Given the description of an element on the screen output the (x, y) to click on. 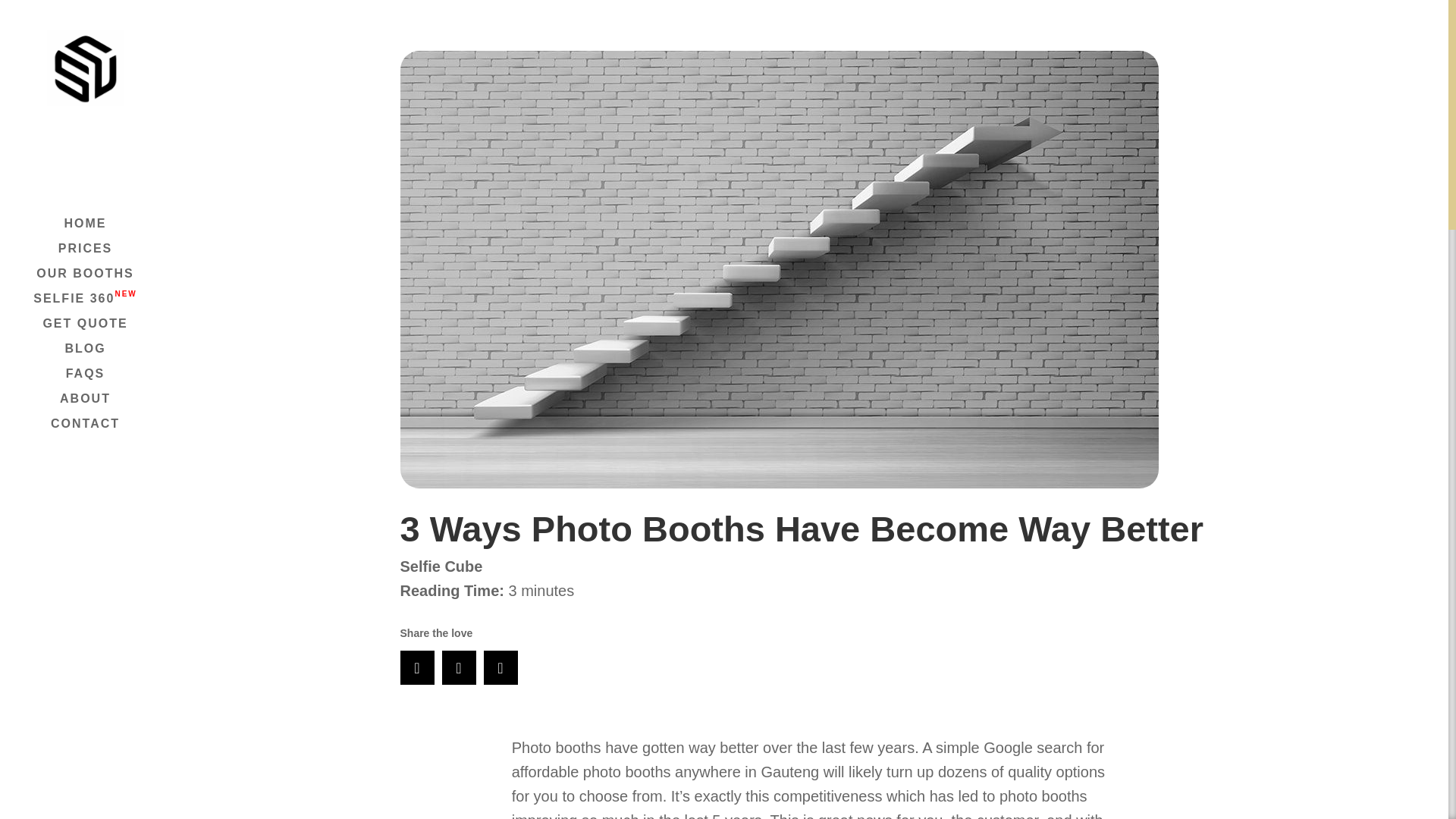
BLOG (100, 355)
GET QUOTE (100, 330)
PRICES (100, 255)
HOME (100, 230)
SELFIE 360NEW (100, 305)
ABOUT (100, 405)
CONTACT (100, 430)
OUR BOOTHS (100, 280)
FAQS (100, 380)
